Given the description of an element on the screen output the (x, y) to click on. 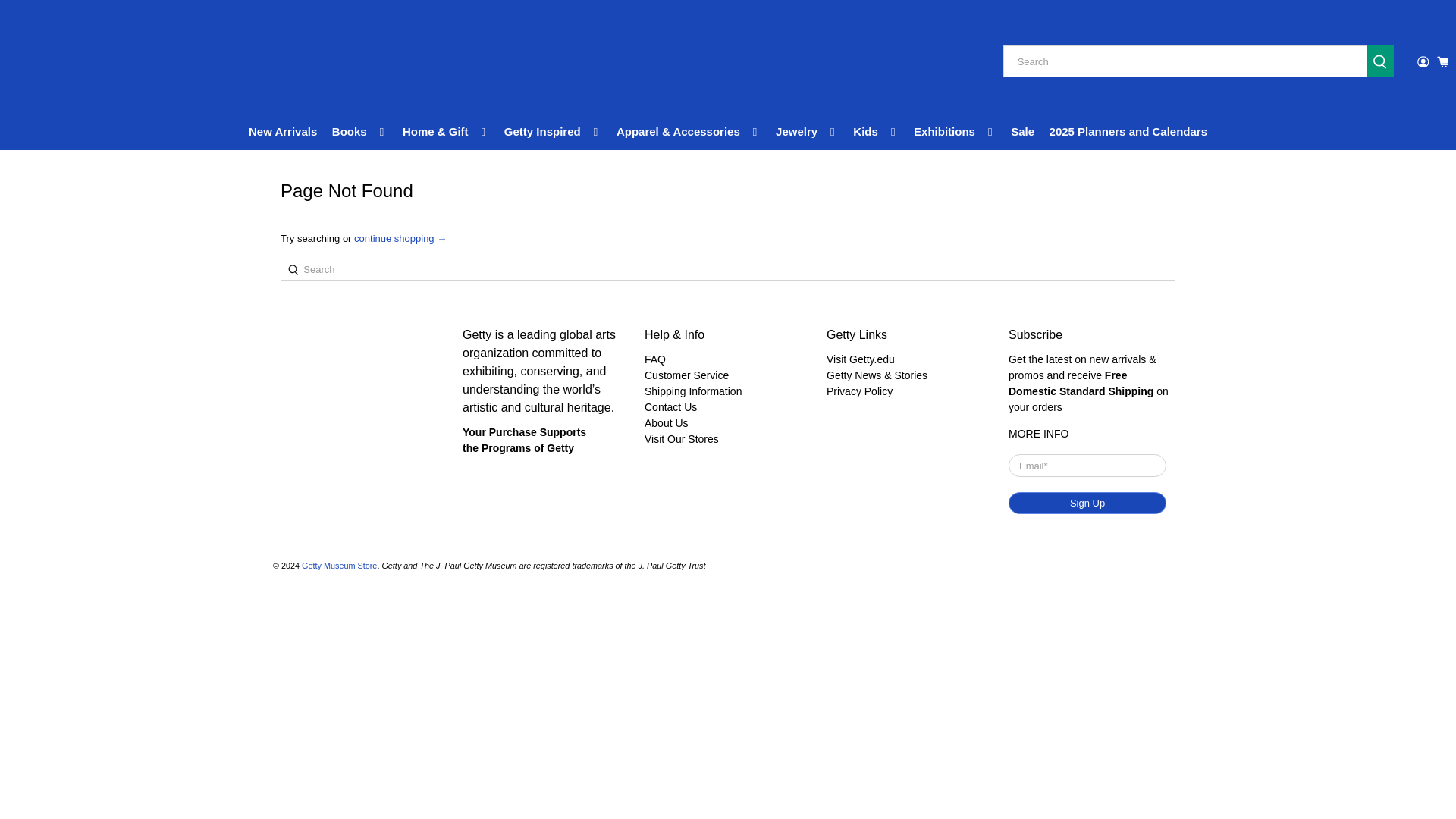
Getty Museum Store (363, 364)
Getty Museum Store (82, 61)
Getty Inspired (552, 131)
Subscribe Now (1038, 433)
New Arrivals (282, 131)
Books (359, 131)
